Given the description of an element on the screen output the (x, y) to click on. 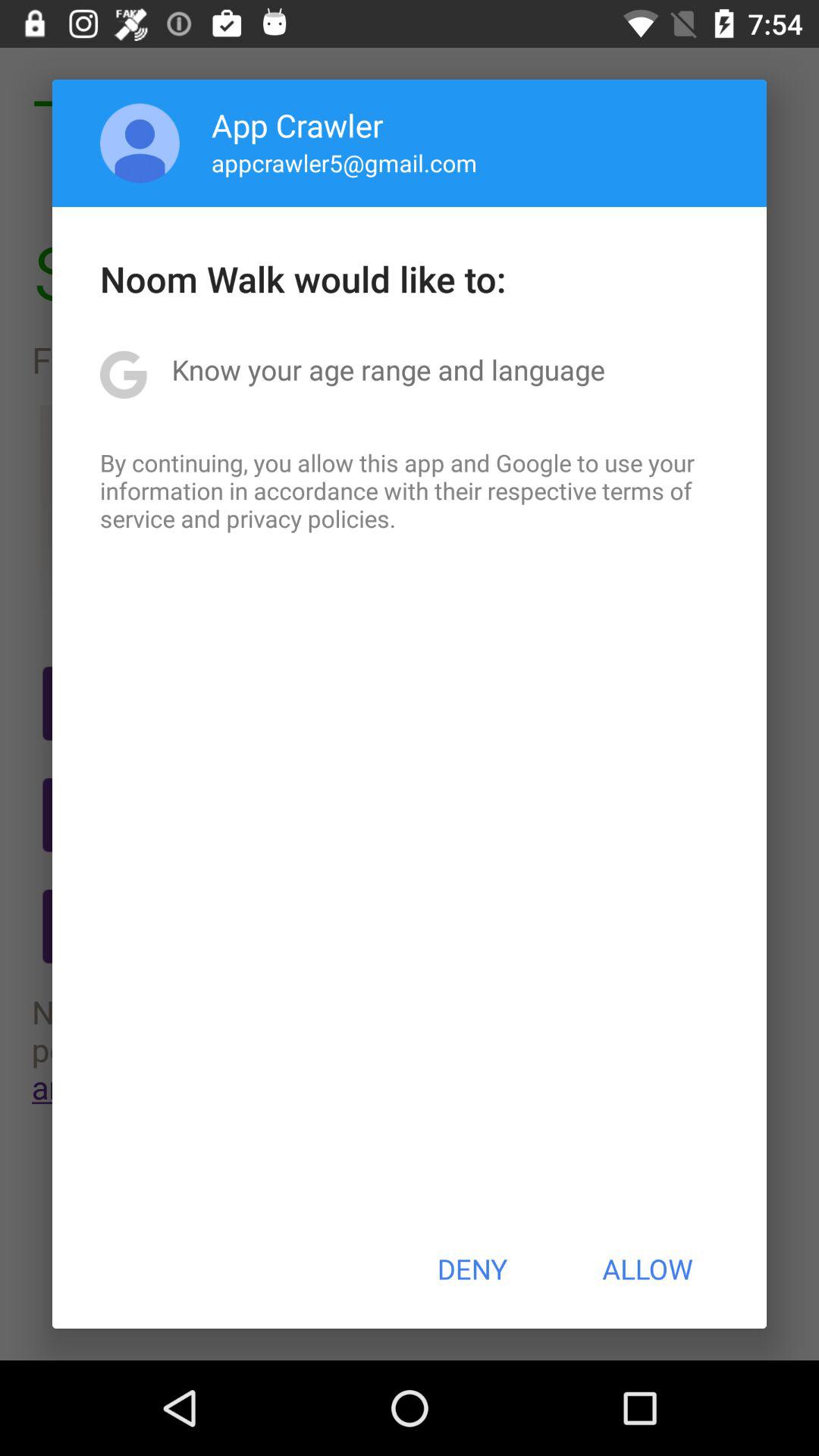
open the appcrawler5@gmail.com item (344, 162)
